Given the description of an element on the screen output the (x, y) to click on. 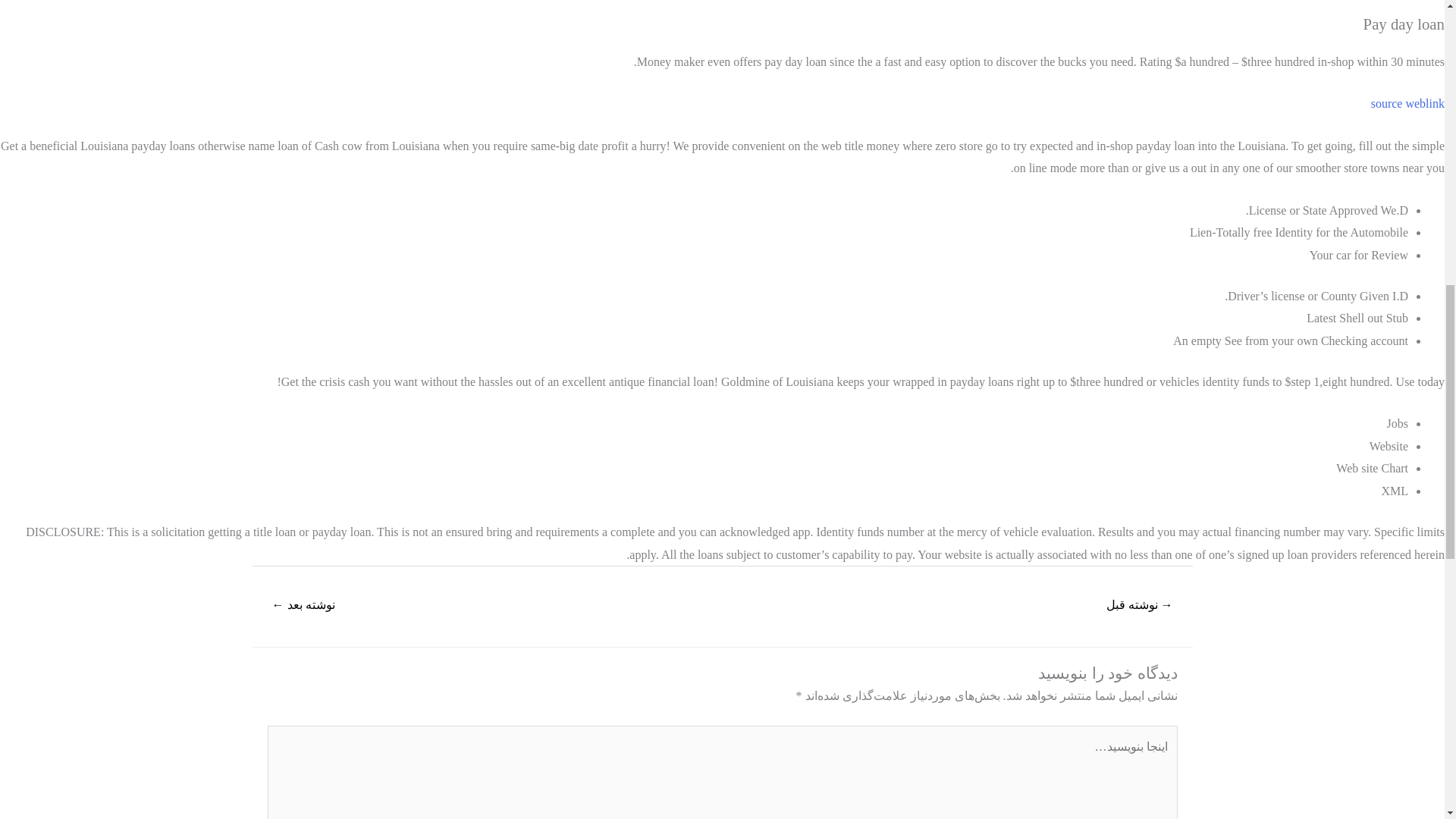
Everything you need to Know about Sugar Community (302, 605)
Orlando escort services is perfect for amateur (1139, 605)
